Given the description of an element on the screen output the (x, y) to click on. 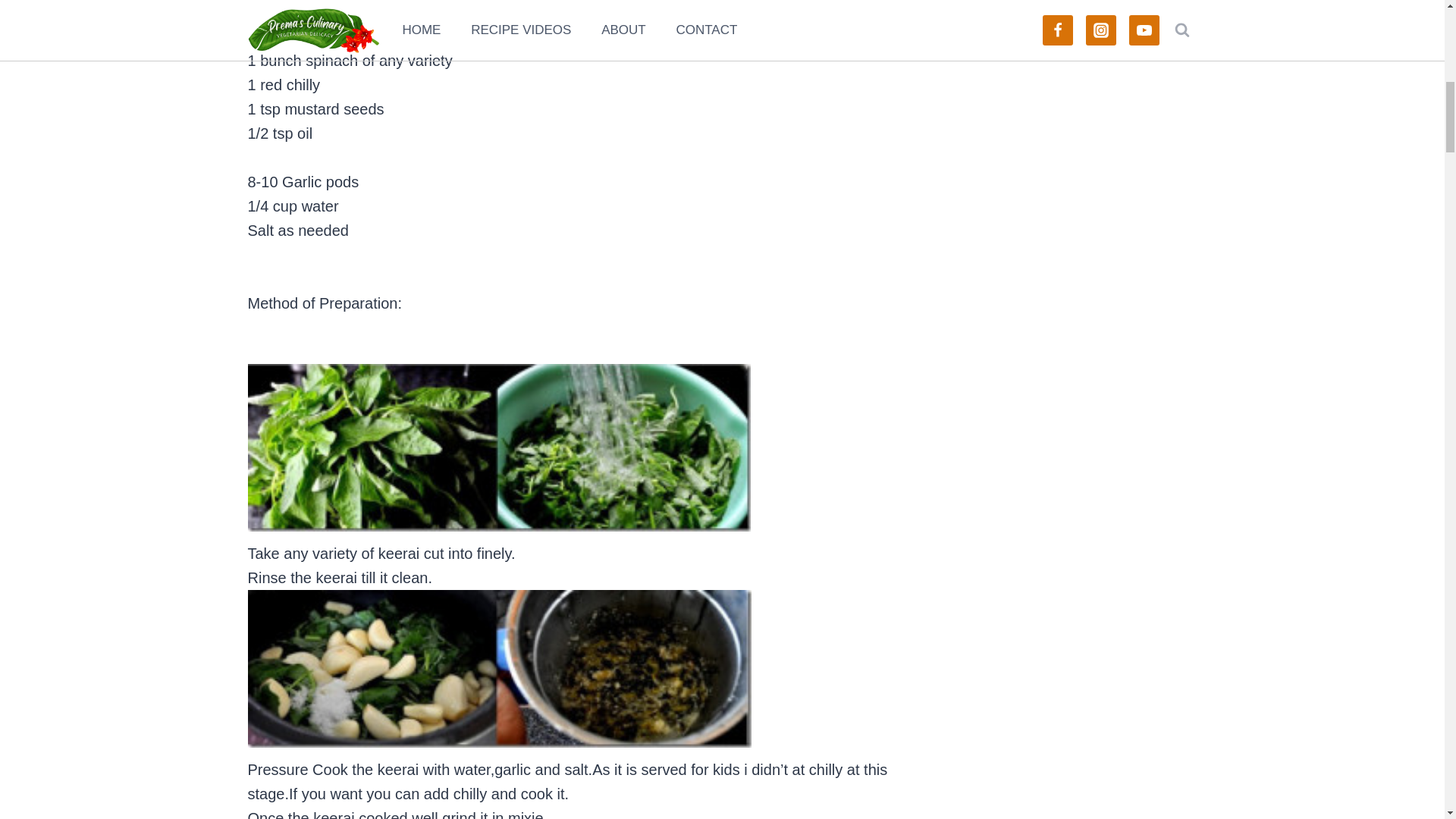
kuzhambu (498, 447)
kuzhambu1 (499, 668)
